Given the description of an element on the screen output the (x, y) to click on. 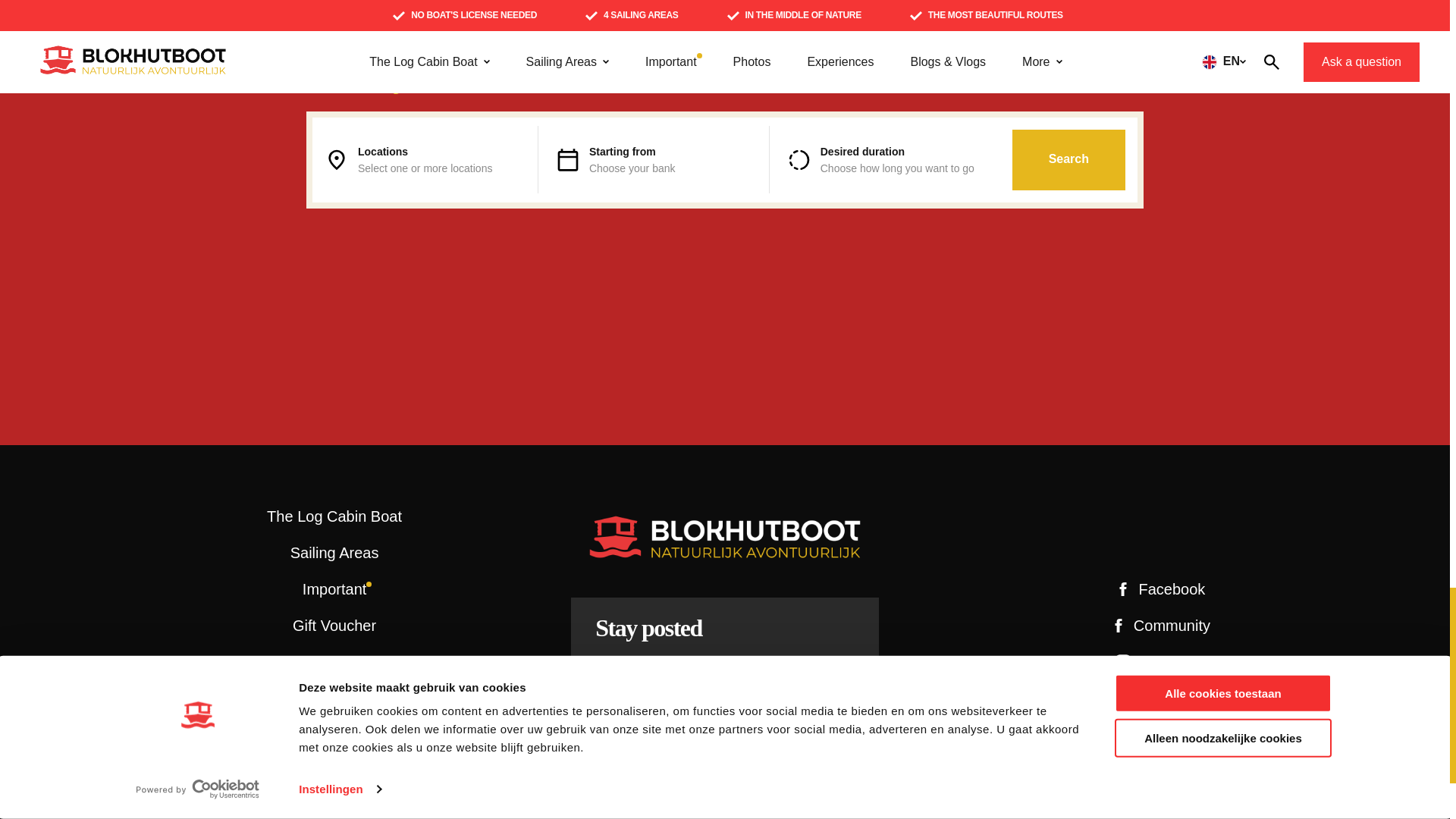
Search (1068, 159)
h (833, 730)
